Given the description of an element on the screen output the (x, y) to click on. 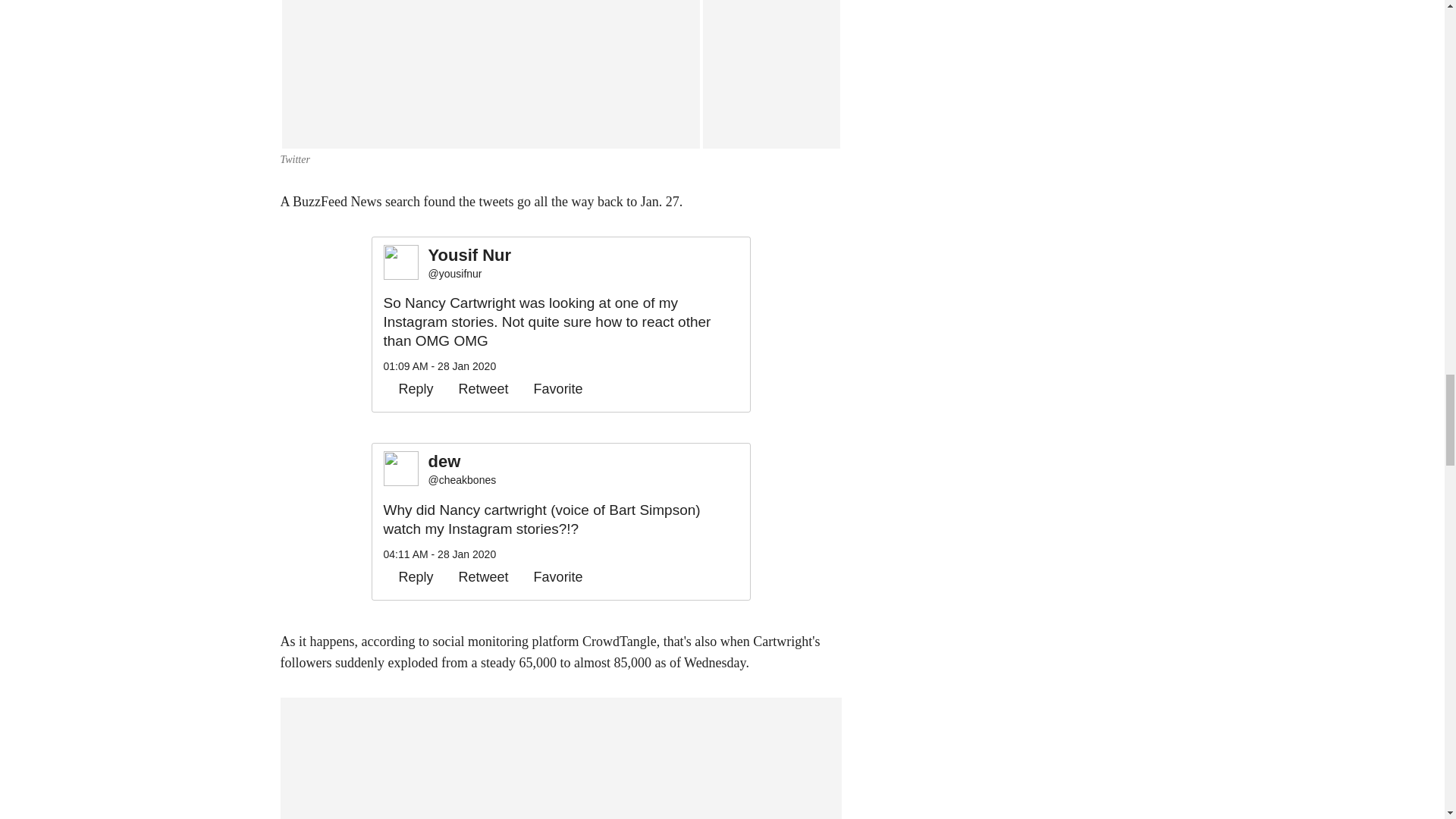
dew (462, 462)
Reply (408, 388)
Favorite (550, 388)
01:09 AM - 28 Jan 2020 (440, 366)
Yousif Nur (470, 255)
Retweet (476, 388)
